Given the description of an element on the screen output the (x, y) to click on. 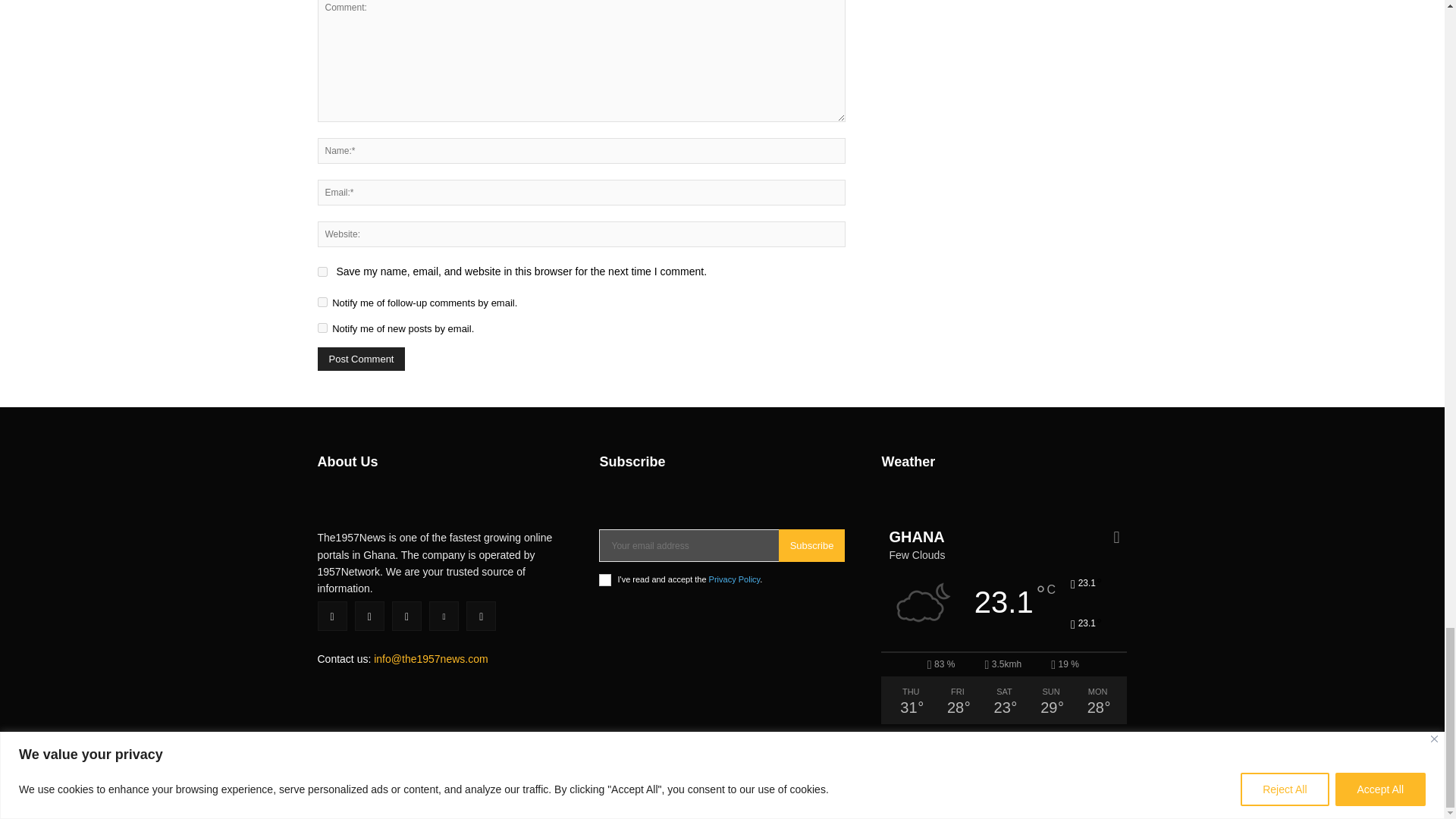
yes (321, 271)
subscribe (321, 327)
subscribe (321, 302)
Post Comment (360, 359)
